Given the description of an element on the screen output the (x, y) to click on. 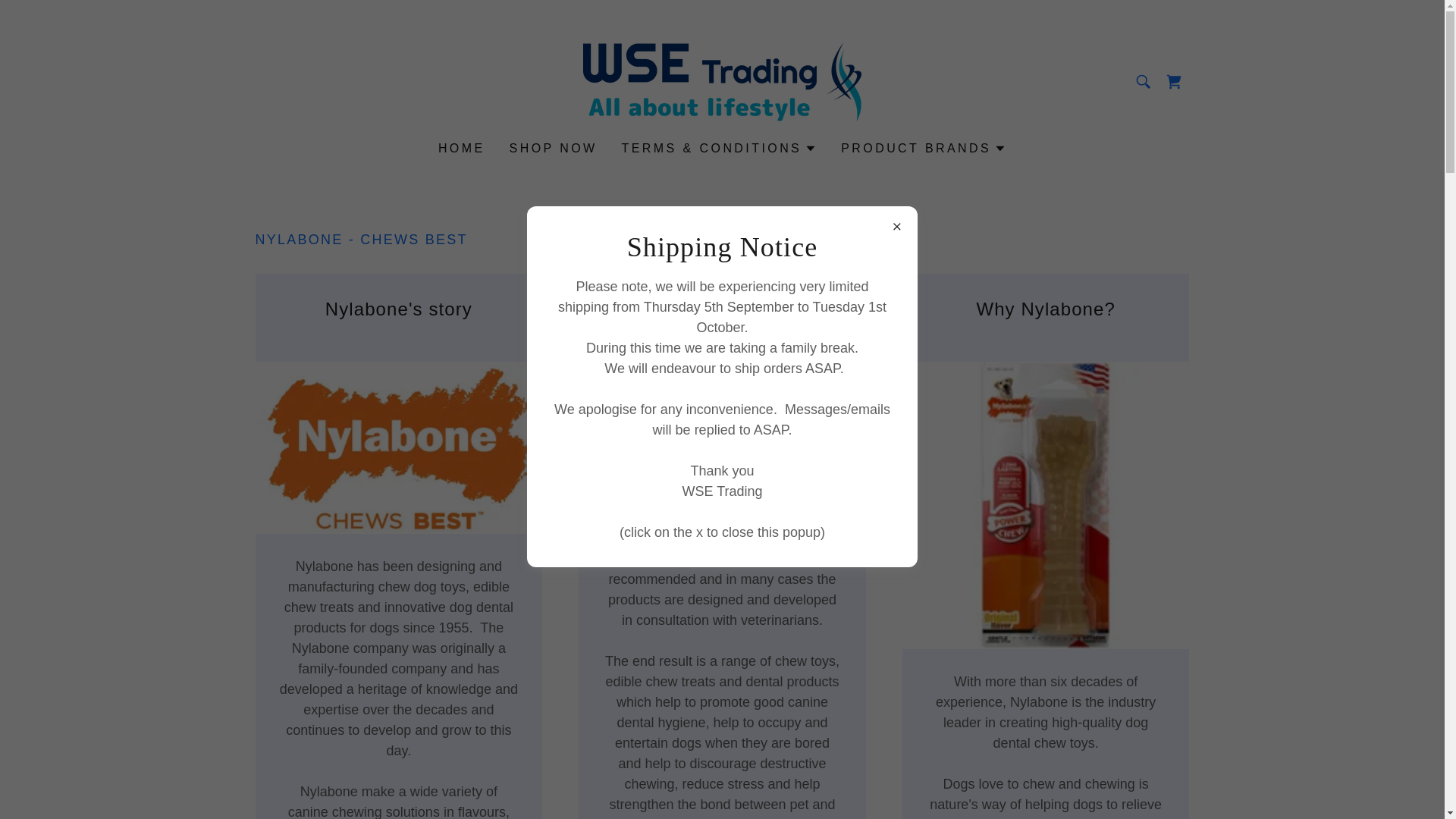
HOME (461, 148)
PRODUCT BRANDS (923, 148)
WSE TRADING (722, 80)
SHOP NOW (553, 148)
